Given the description of an element on the screen output the (x, y) to click on. 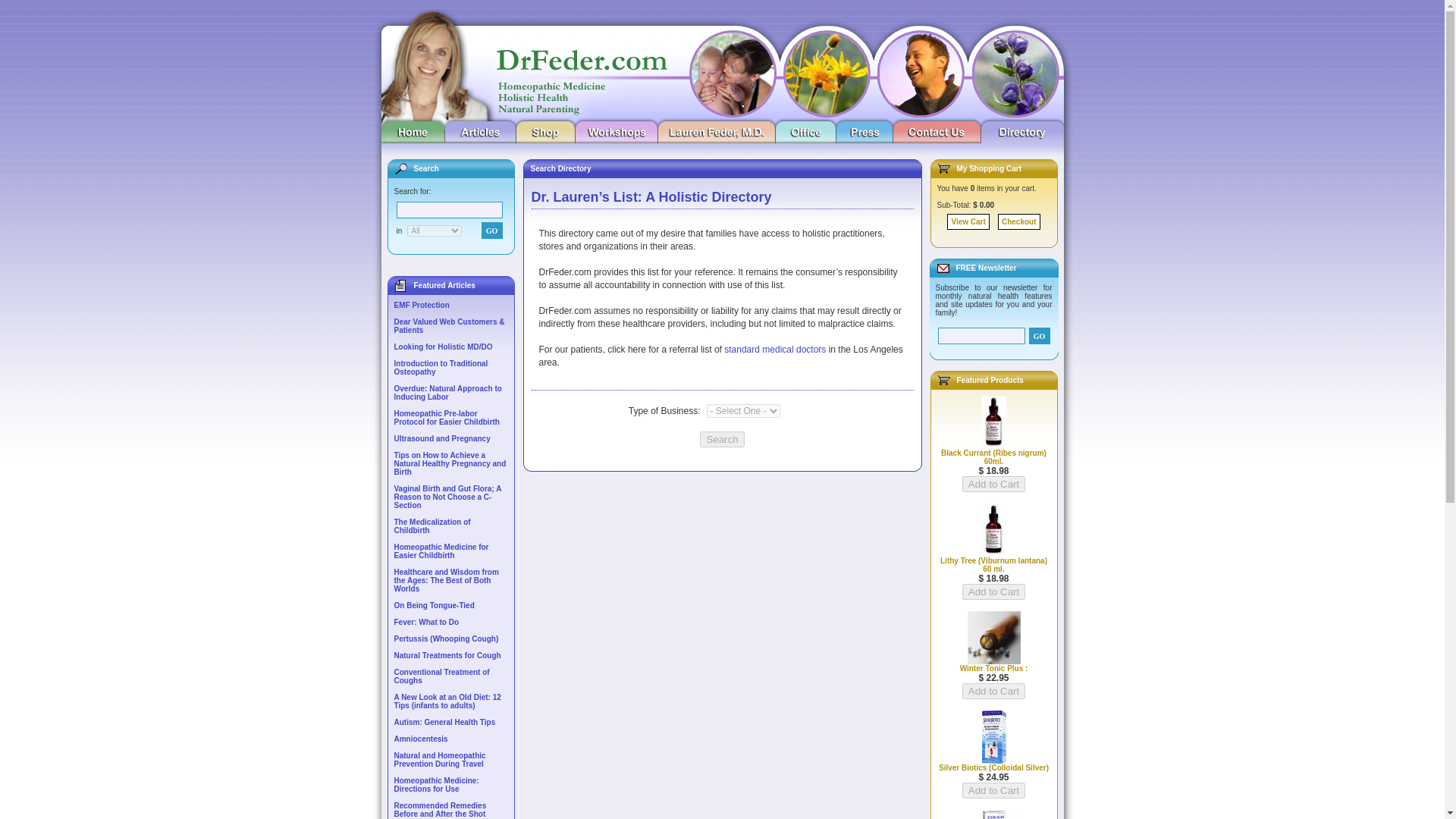
Amniocentesis (421, 738)
Introduction to Traditional Osteopathy (440, 367)
GO (491, 230)
GO (1038, 335)
Natural Treatments for Cough (447, 655)
Recommended Remedies Before and After the Shot (440, 809)
EMF Protection (421, 305)
Add to Cart (993, 790)
Tips on How to Achieve a Natural Healthy Pregnancy and Birth (450, 463)
Natural and Homeopathic Prevention During Travel (440, 759)
Homeopathic Medicine for Easier Childbirth (441, 550)
On Being Tongue-Tied (434, 605)
Fever: What to Do (427, 622)
Ultrasound and Pregnancy (442, 438)
Search (722, 439)
